Given the description of an element on the screen output the (x, y) to click on. 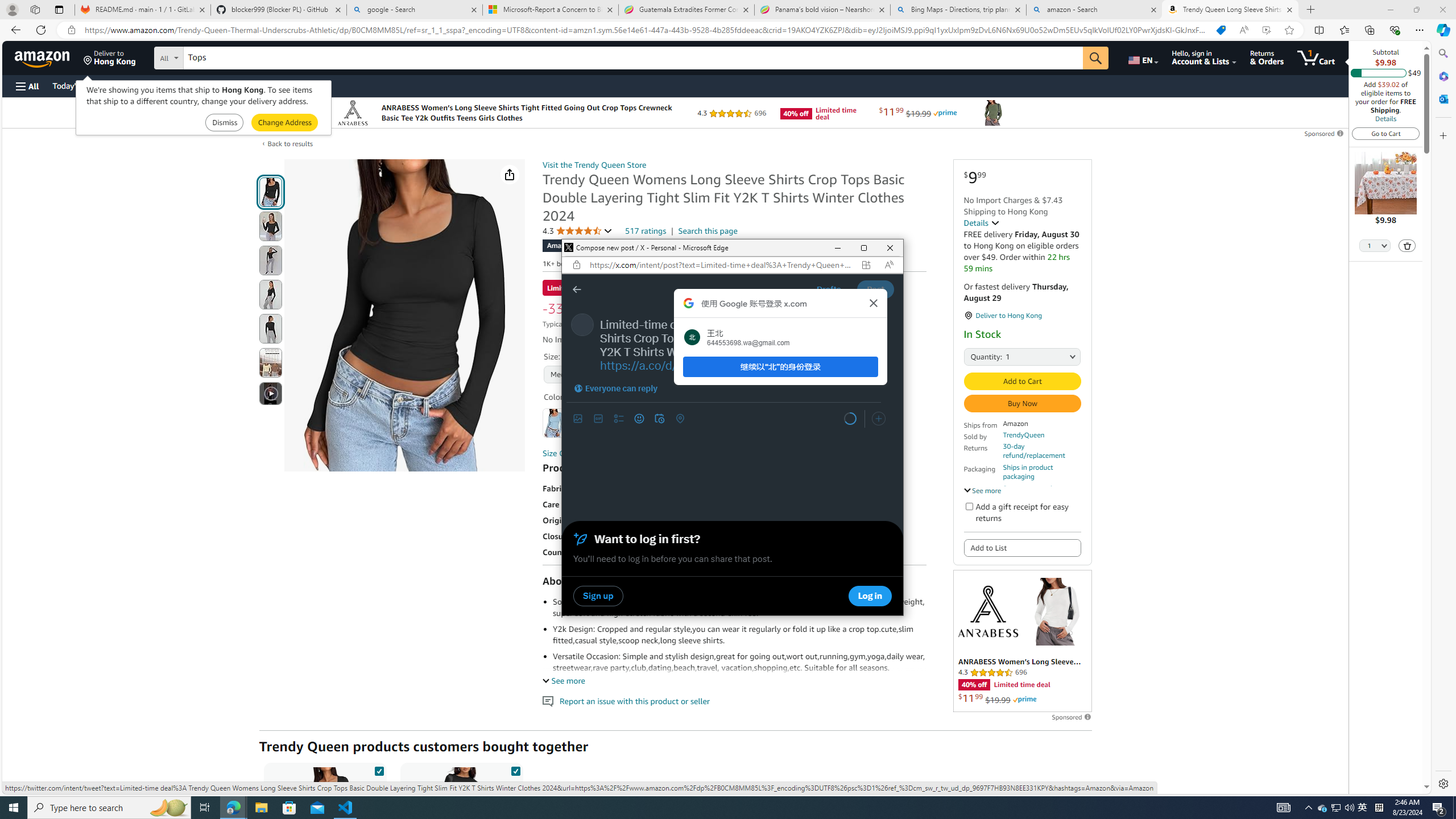
Microsoft Store (289, 807)
Registry (205, 85)
Search this page (708, 230)
amazon - Search (1094, 9)
Everyone can reply (615, 388)
AutomationID: thematicBundleCheck-2 (515, 768)
Today's Deals (76, 85)
